Given the description of an element on the screen output the (x, y) to click on. 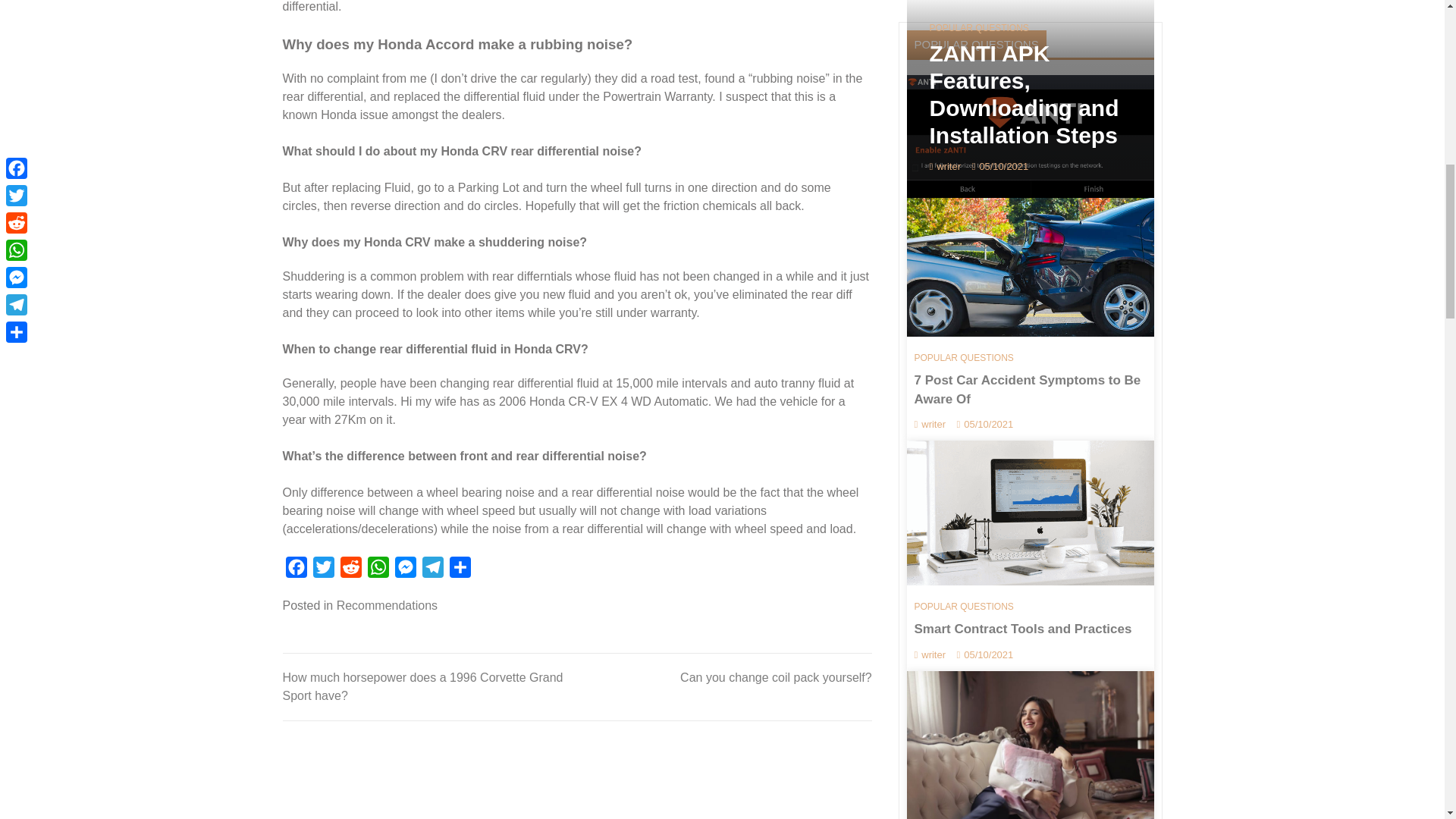
Messenger (405, 570)
Share (459, 570)
Recommendations (387, 604)
Reddit (350, 570)
WhatsApp (377, 570)
Facebook (295, 570)
Can you change coil pack yourself? (775, 676)
Telegram (432, 570)
Messenger (405, 570)
Reddit (350, 570)
Twitter (322, 570)
Twitter (322, 570)
Facebook (295, 570)
How much horsepower does a 1996 Corvette Grand Sport have? (422, 685)
WhatsApp (377, 570)
